Given the description of an element on the screen output the (x, y) to click on. 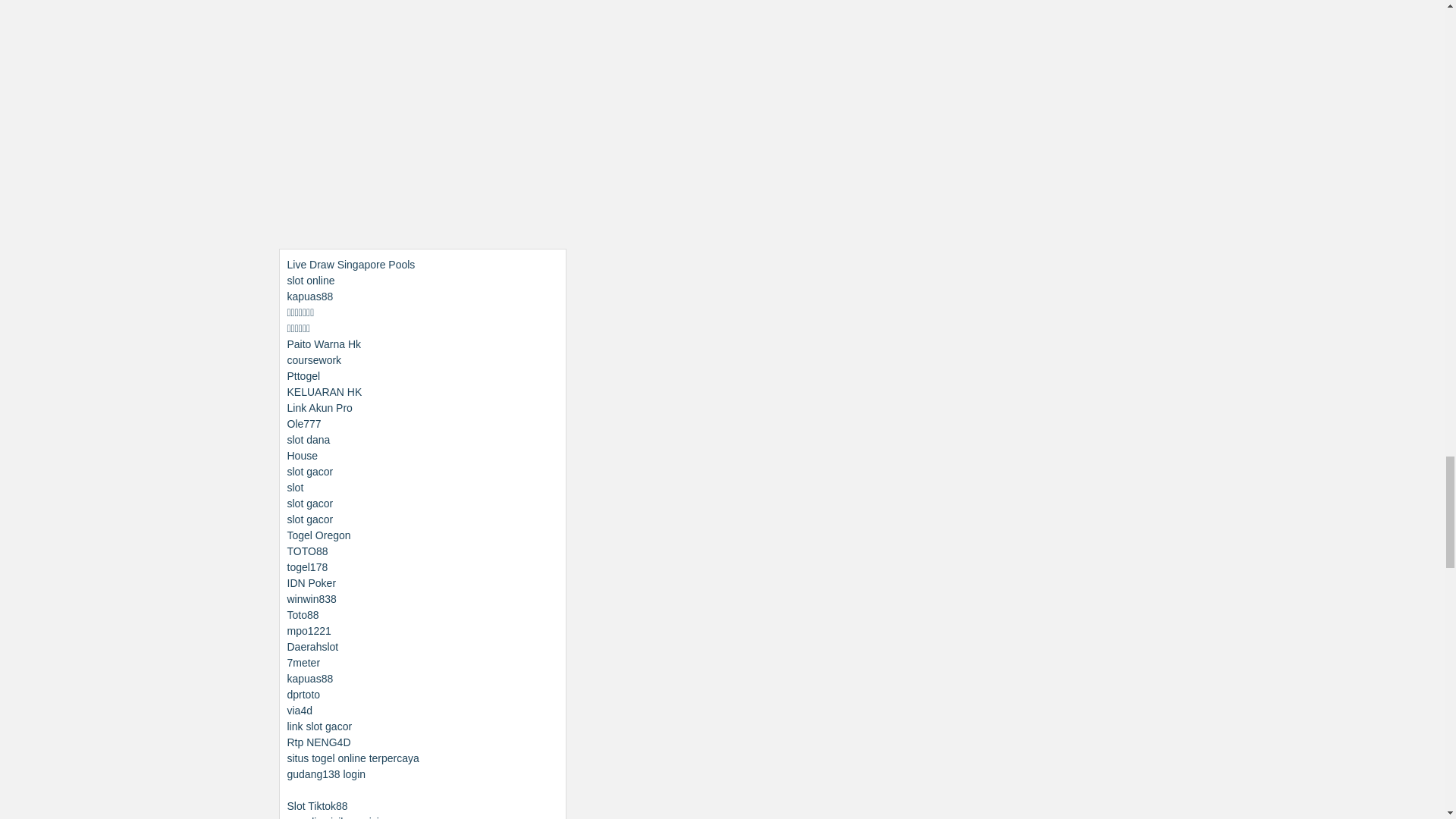
KELUARAN HK (323, 391)
Pttogel (303, 376)
Live Draw Singapore Pools (350, 264)
Paito Warna Hk (323, 344)
Link Akun Pro (319, 408)
slot online (310, 280)
coursework (313, 359)
Ole777 (303, 423)
kapuas88 (309, 296)
slot dana (308, 439)
